Given the description of an element on the screen output the (x, y) to click on. 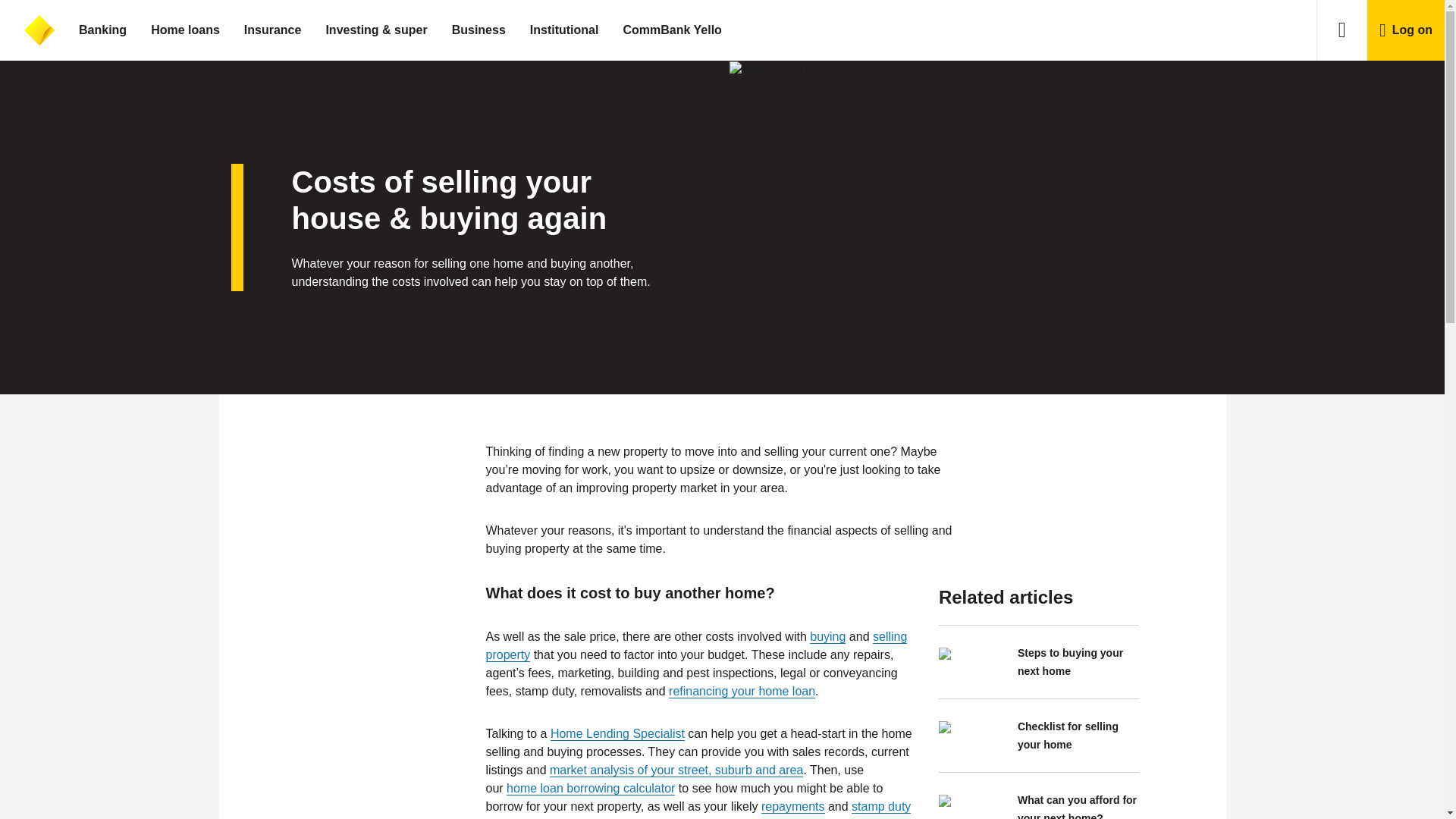
Home loans (185, 30)
Insurance (272, 30)
Institutional (563, 30)
CommBank Yello (671, 30)
